Given the description of an element on the screen output the (x, y) to click on. 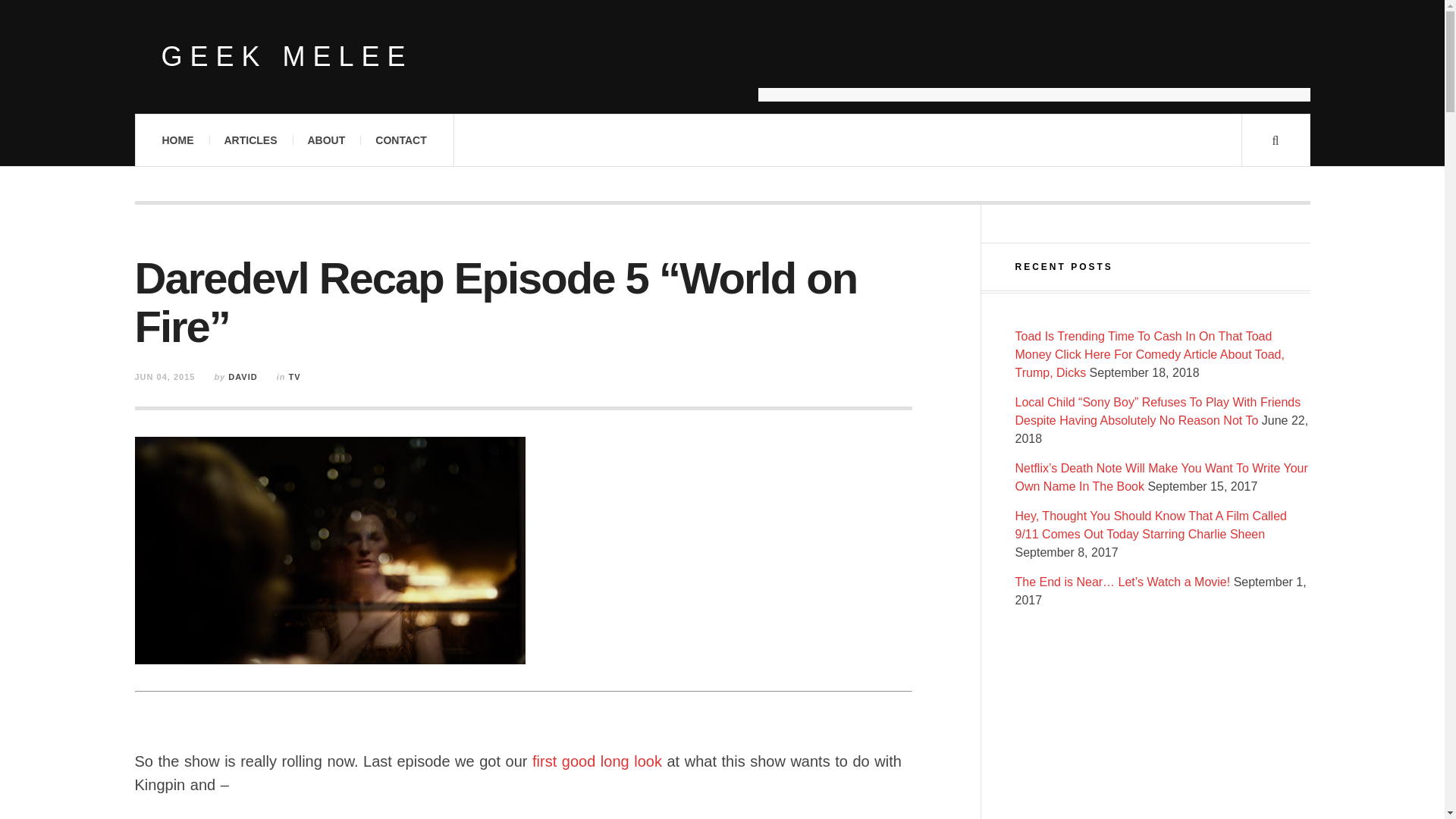
Geek Melee (286, 56)
first good long look (597, 760)
ABOUT (326, 140)
TV (294, 376)
CONTACT (400, 140)
GEEK MELEE (286, 56)
ARTICLES (250, 140)
View all posts in TV (294, 376)
HOME (178, 140)
Advertisement (1034, 64)
